Given the description of an element on the screen output the (x, y) to click on. 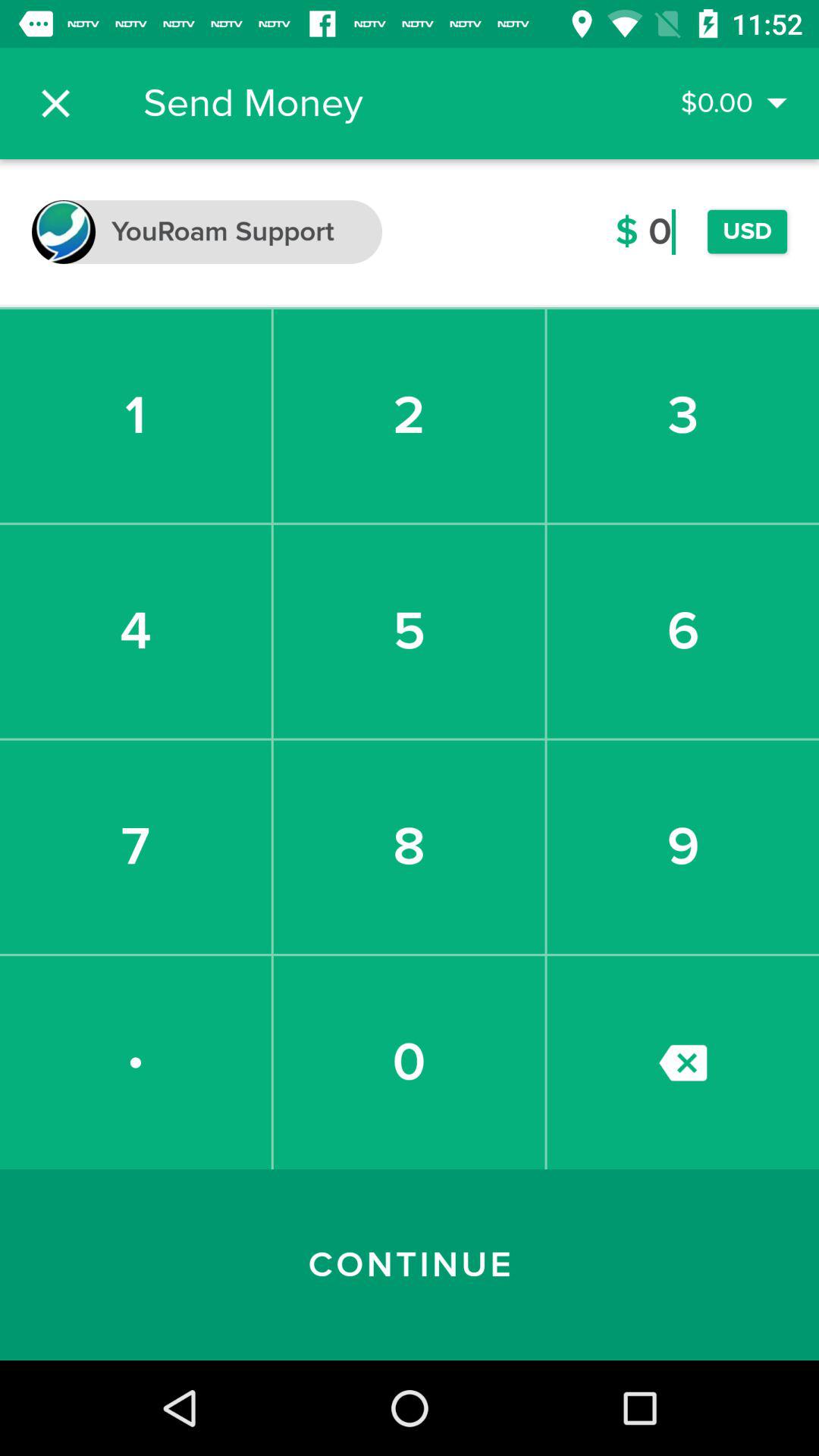
scroll until 7 item (135, 846)
